Given the description of an element on the screen output the (x, y) to click on. 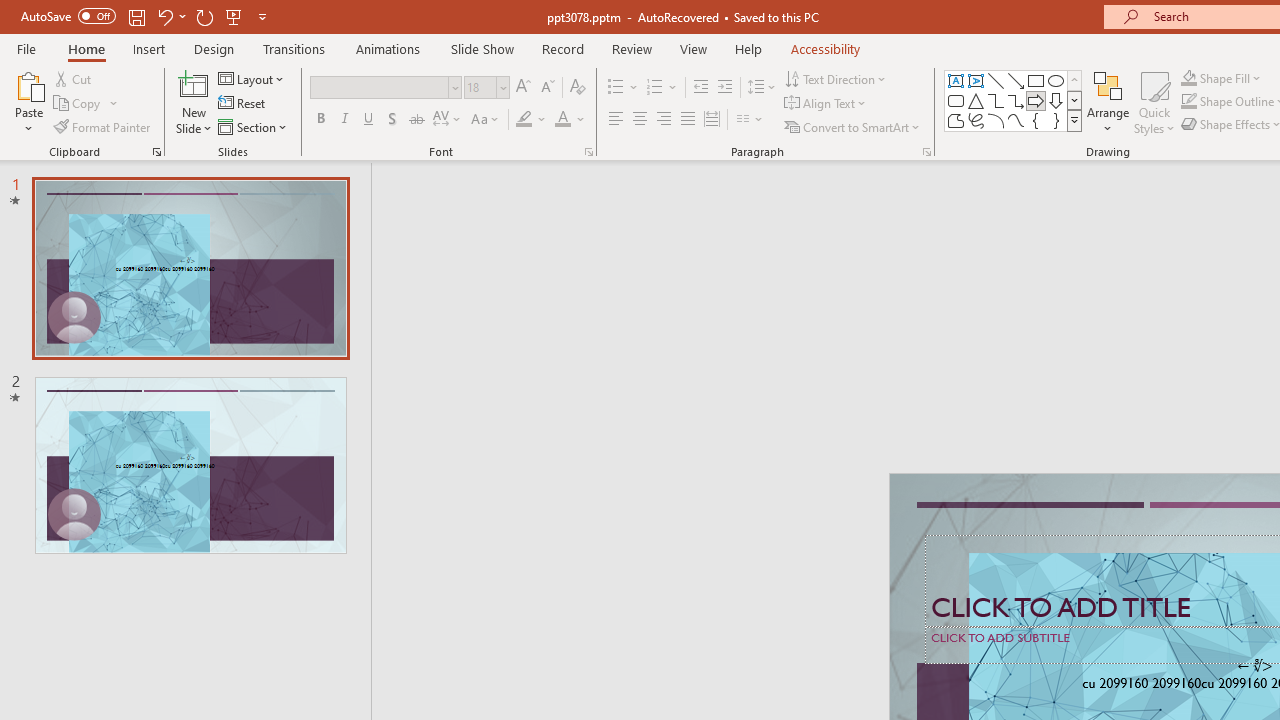
TextBox 7 (1254, 666)
